Given the description of an element on the screen output the (x, y) to click on. 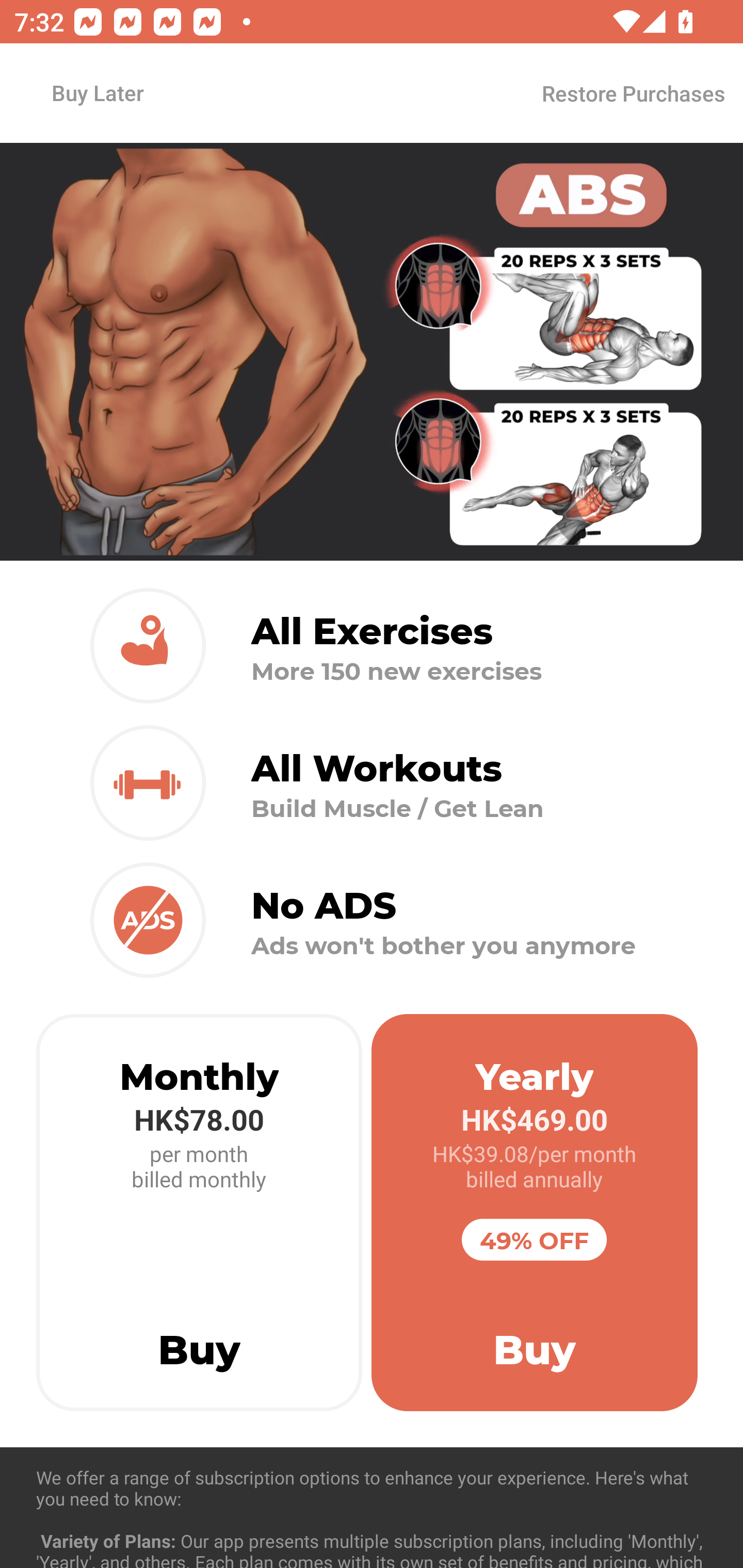
Restore Purchases (632, 92)
Buy Later (96, 92)
Monthly HK$78.00 per month
billed monthly Buy (199, 1212)
